Given the description of an element on the screen output the (x, y) to click on. 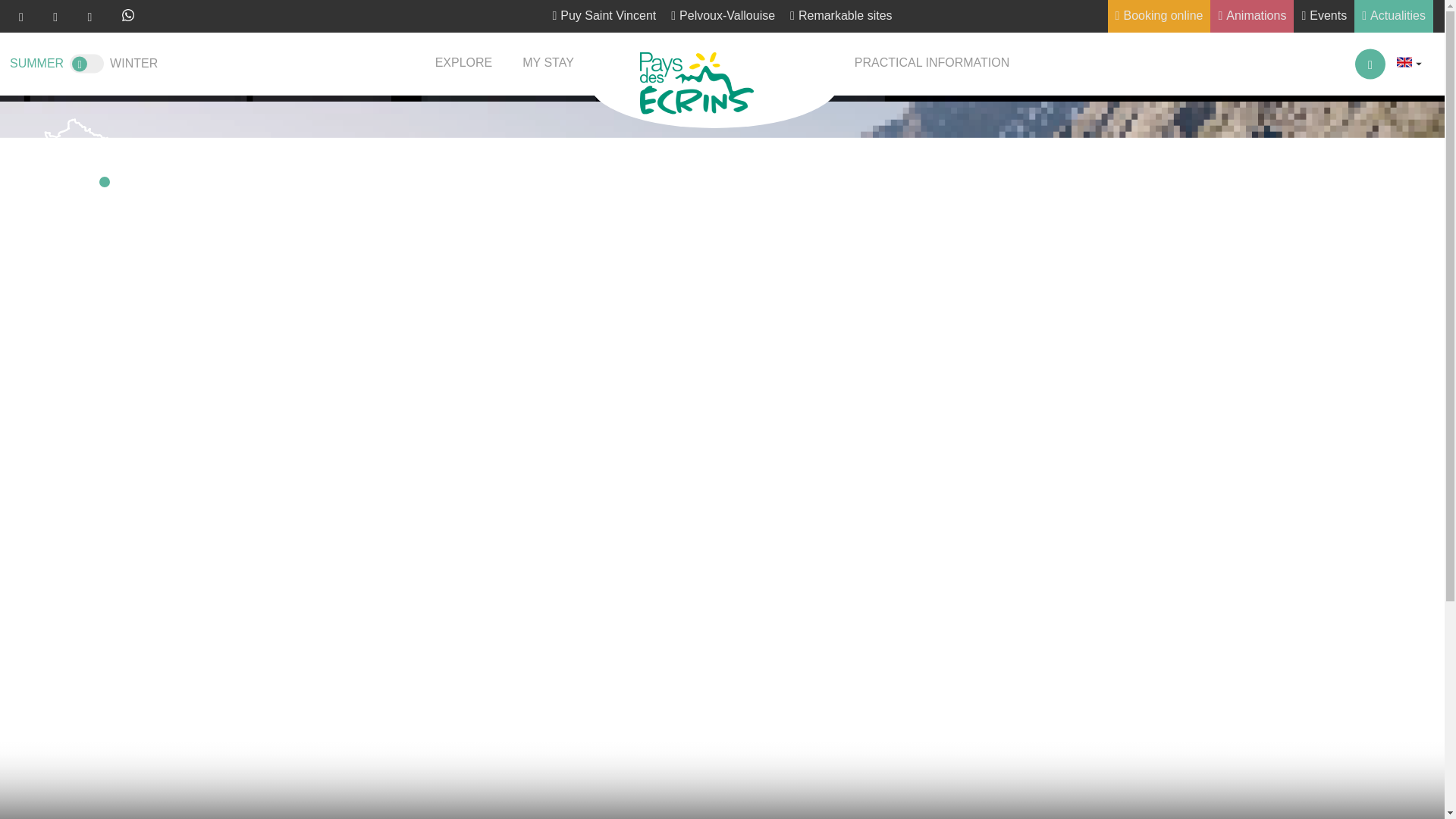
Pelvoux-Vallouise (723, 16)
Remarkable sites (841, 16)
Booking online (1159, 16)
EXPLORE (464, 63)
Animations (1251, 16)
Actualities (1393, 16)
Puy Saint Vincent (603, 16)
Events (1324, 16)
